Given the description of an element on the screen output the (x, y) to click on. 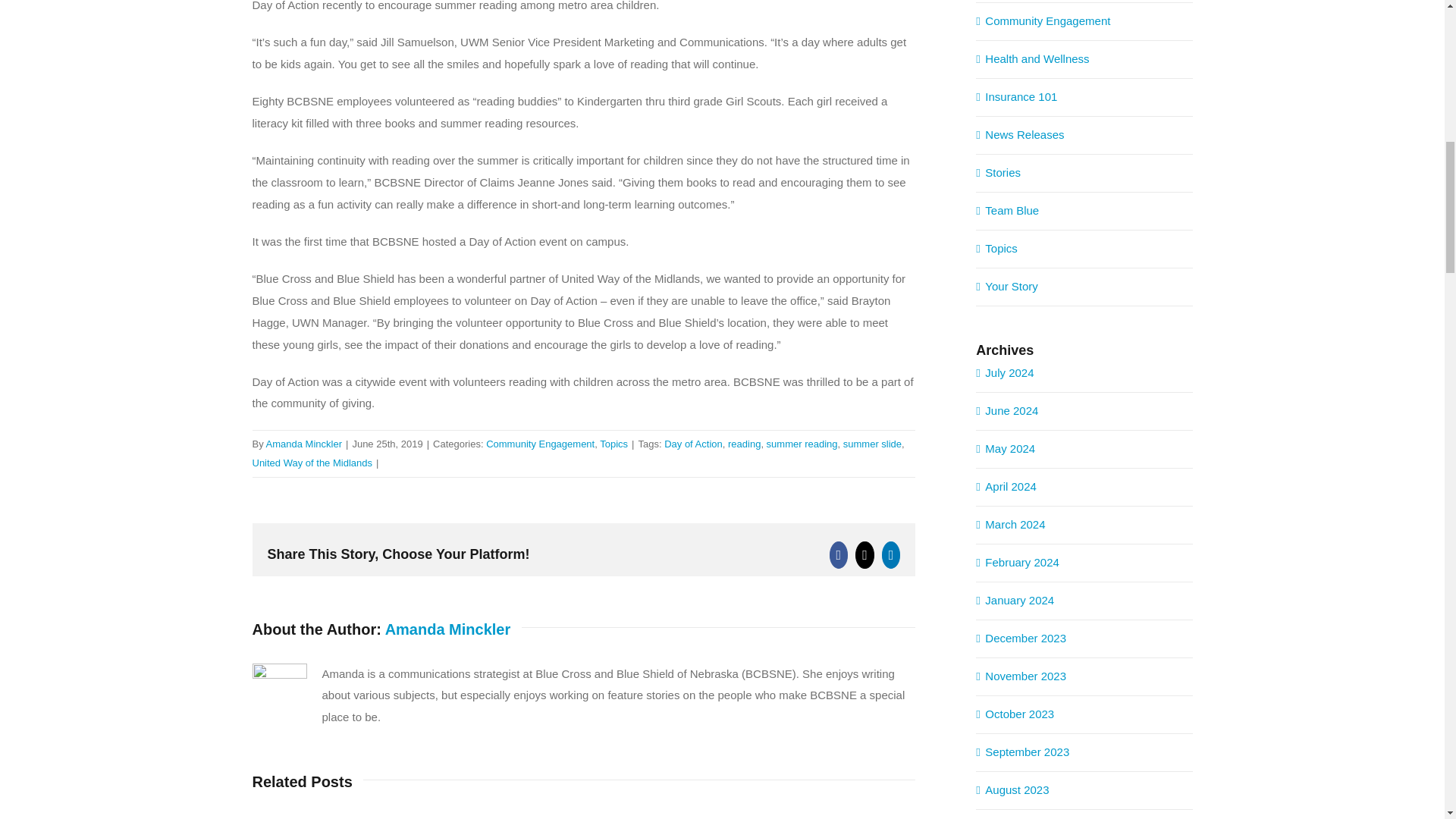
Amanda Minckler (448, 629)
Amanda Minckler (304, 443)
Day of Action (692, 443)
Posts by Amanda Minckler (304, 443)
United Way of the Midlands (311, 462)
Topics (613, 443)
summer slide (872, 443)
summer reading (802, 443)
reading (744, 443)
Community Engagement (540, 443)
Posts by Amanda Minckler (448, 629)
